Given the description of an element on the screen output the (x, y) to click on. 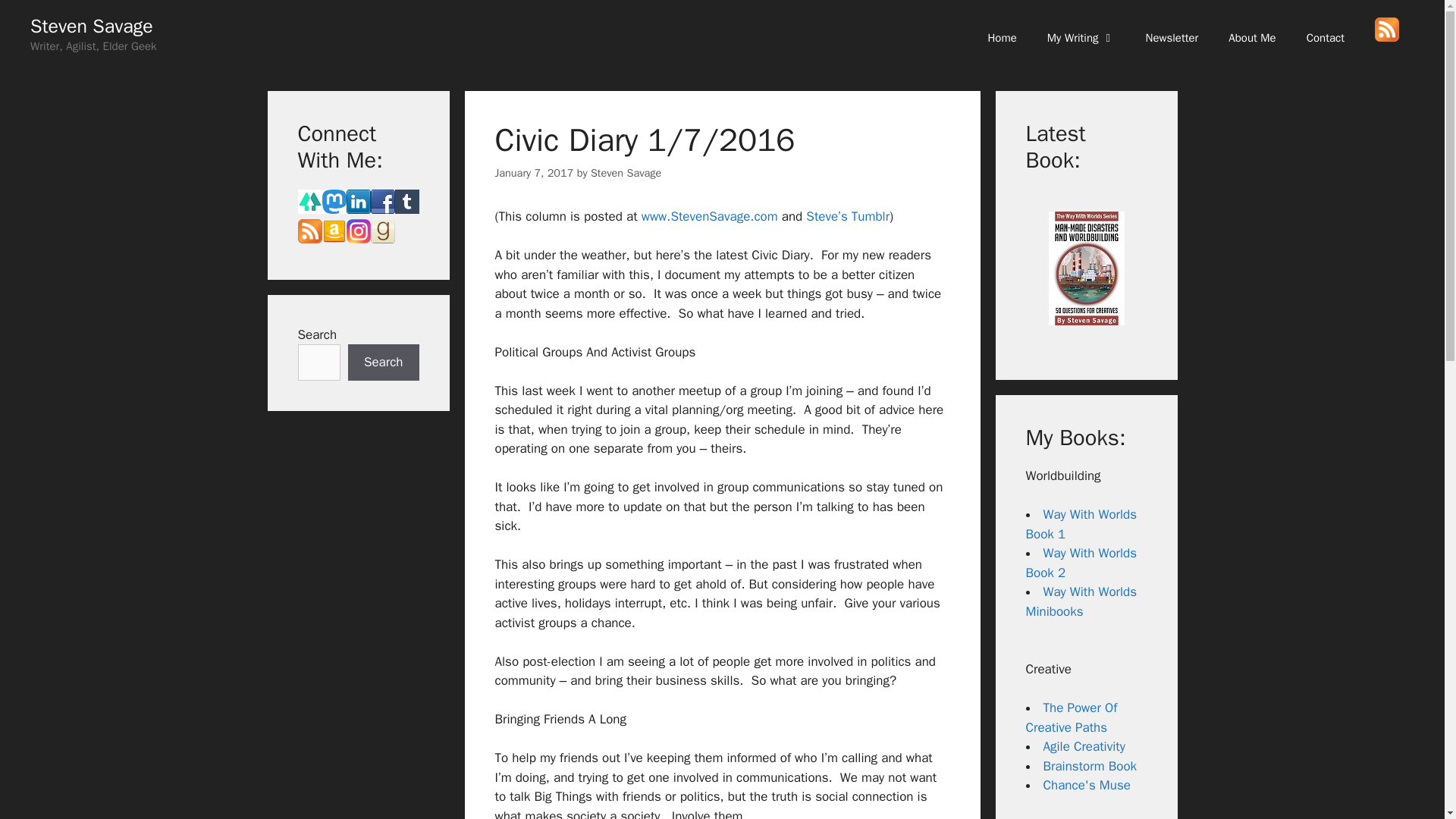
Steven Savage (91, 25)
Way With Worlds Minibooks (1081, 601)
Newsletter (1172, 37)
The Power Of Creative Paths (1070, 717)
Steven Savage (626, 172)
Home (1001, 37)
View all posts by Steven Savage (626, 172)
Contact (1325, 37)
Search (383, 361)
About Me (1251, 37)
